Given the description of an element on the screen output the (x, y) to click on. 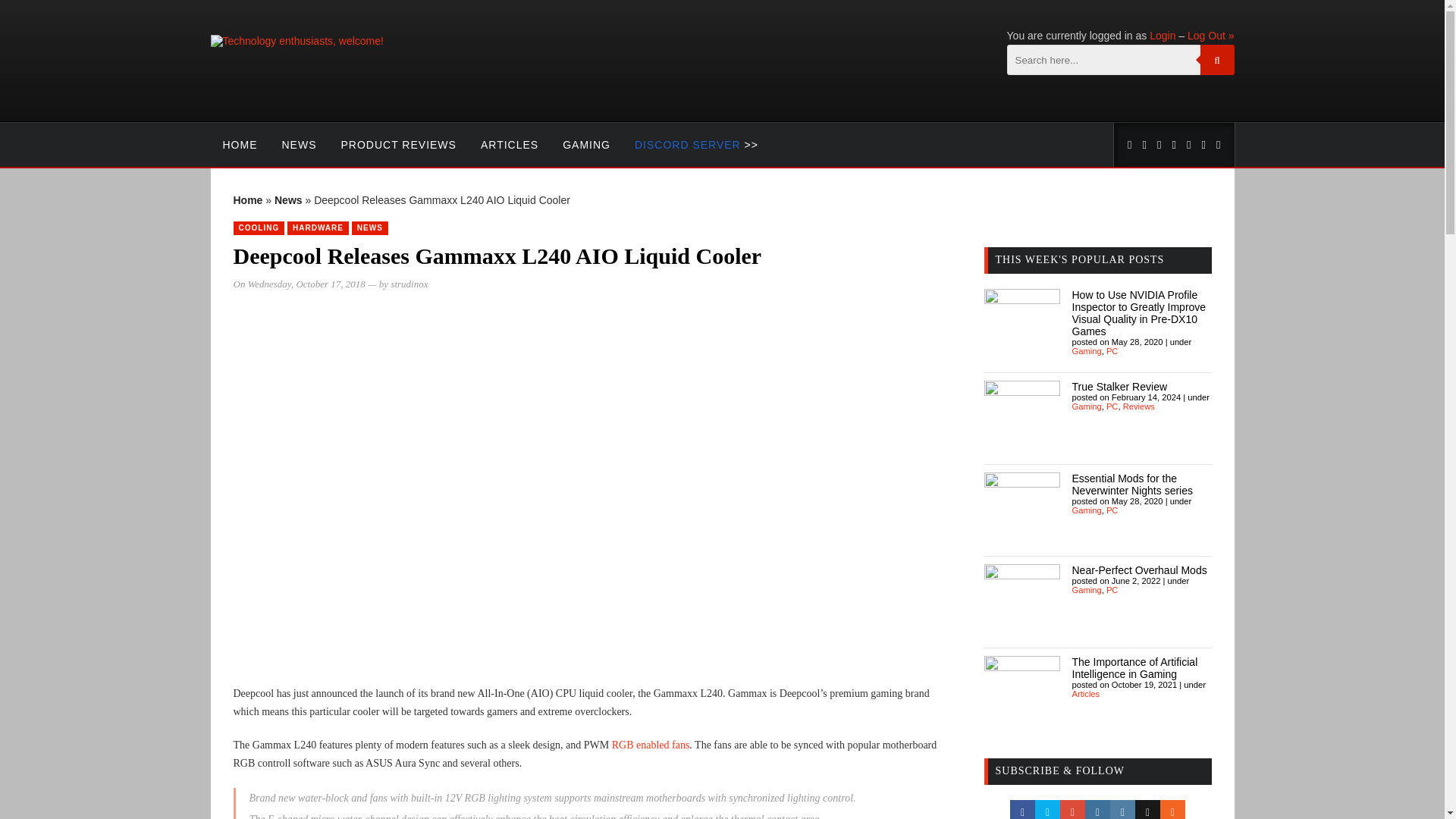
NEWS (299, 144)
Login (1162, 35)
PRODUCT REVIEWS (398, 144)
Technology enthusiasts, welcome! (297, 40)
HOME (240, 144)
